Given the description of an element on the screen output the (x, y) to click on. 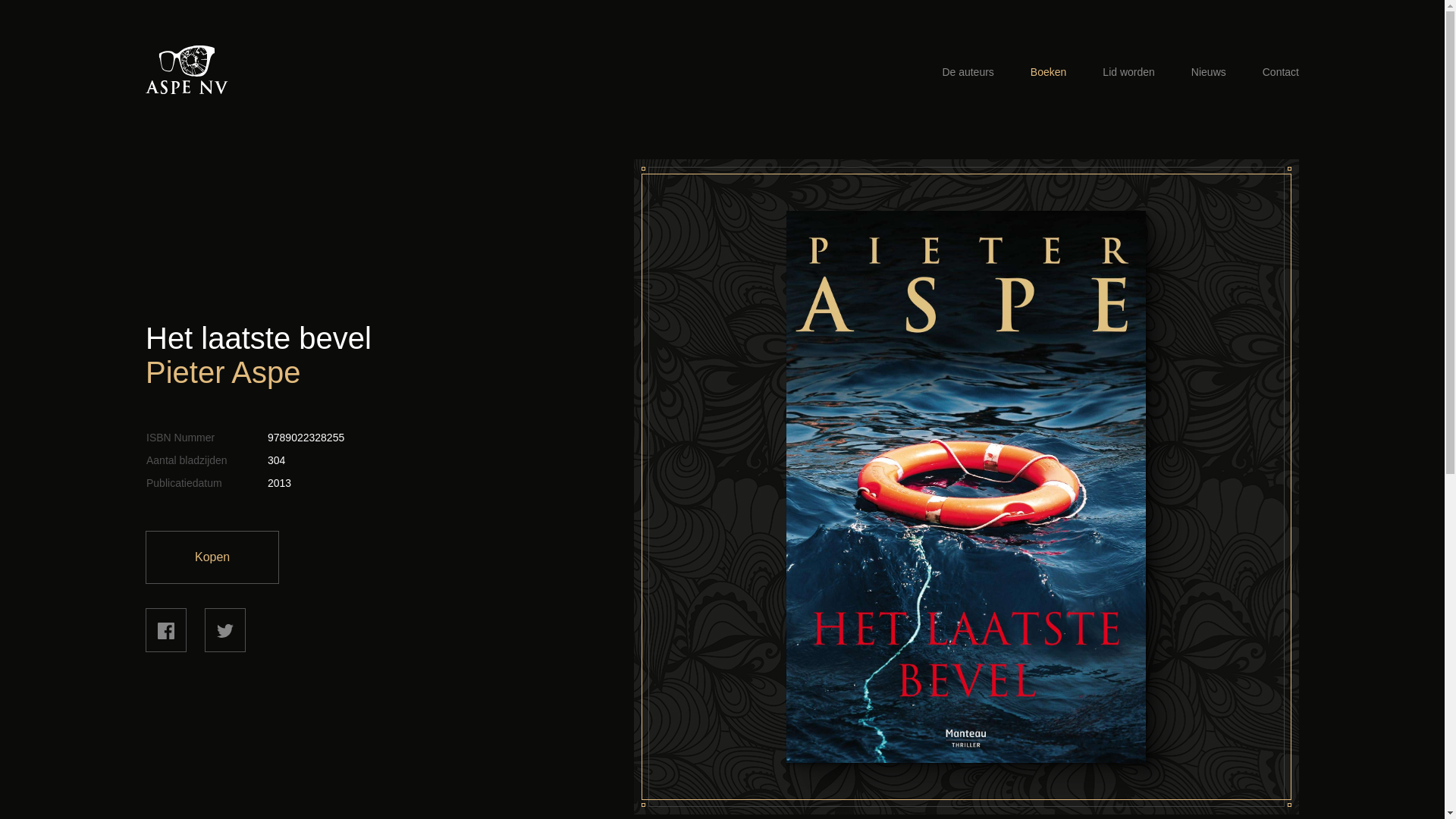
Deel op Twitter Element type: text (224, 630)
Deel op Facebook Element type: text (165, 630)
Boeken Element type: text (1048, 71)
De auteurs Element type: text (967, 71)
Contact Element type: text (1280, 71)
Kopen Element type: text (212, 556)
Lid worden Element type: text (1128, 71)
Nieuws Element type: text (1208, 71)
